Given the description of an element on the screen output the (x, y) to click on. 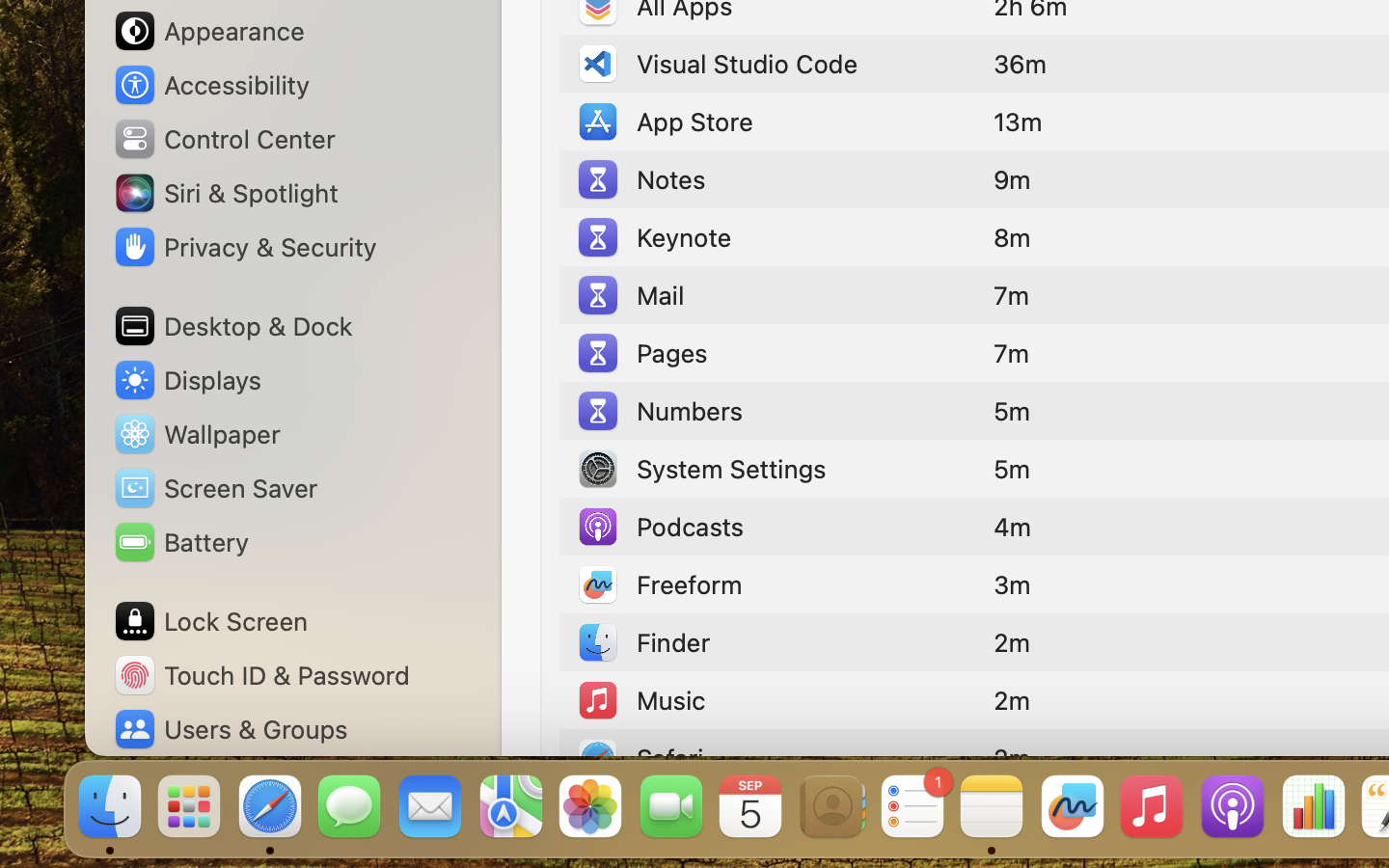
5m Element type: AXStaticText (1011, 468)
Freeform Element type: AXStaticText (658, 584)
Privacy & Security Element type: AXStaticText (243, 246)
Battery Element type: AXStaticText (179, 541)
Siri & Spotlight Element type: AXStaticText (224, 192)
